Given the description of an element on the screen output the (x, y) to click on. 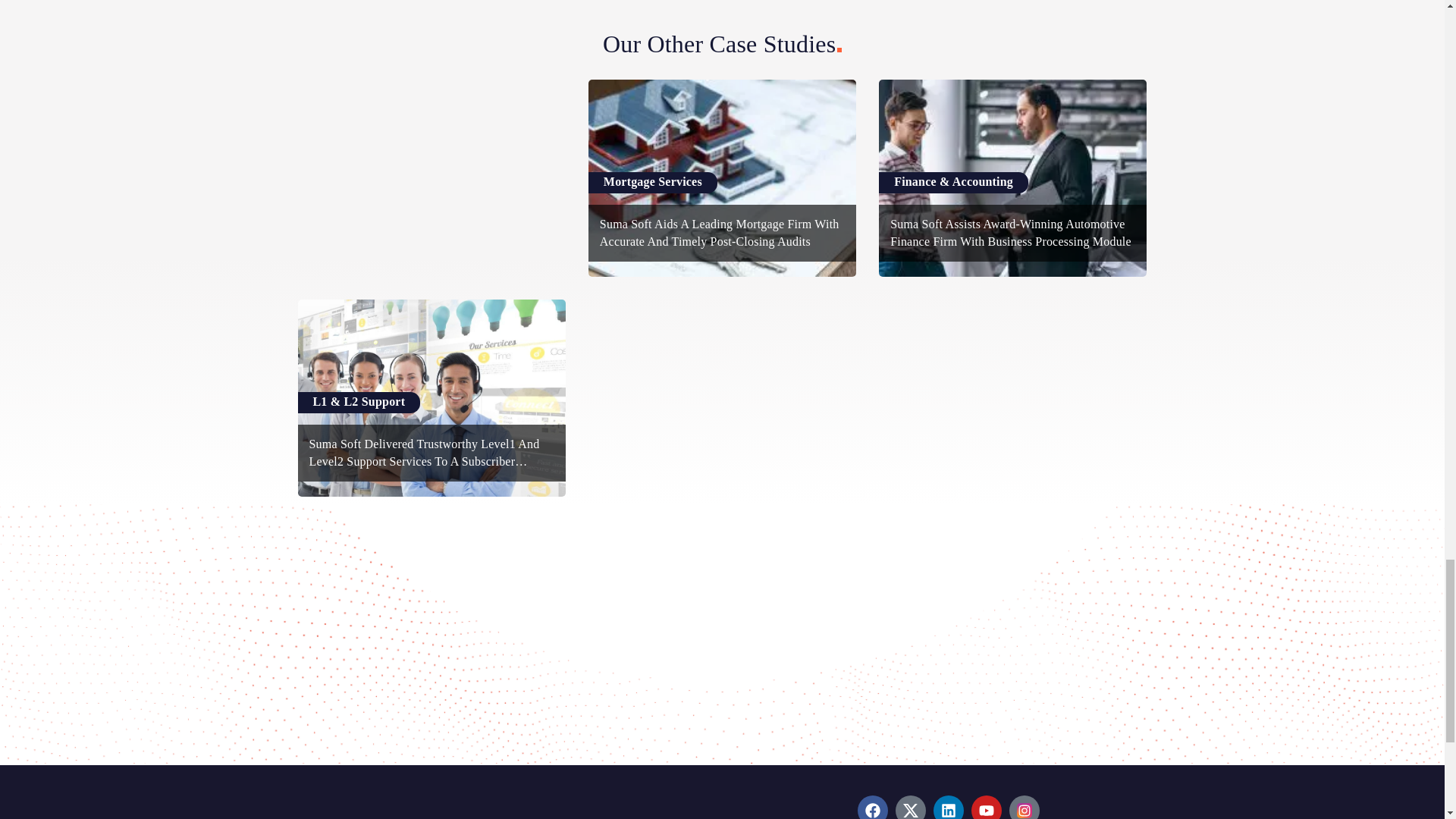
SUMA (384, 801)
